Given the description of an element on the screen output the (x, y) to click on. 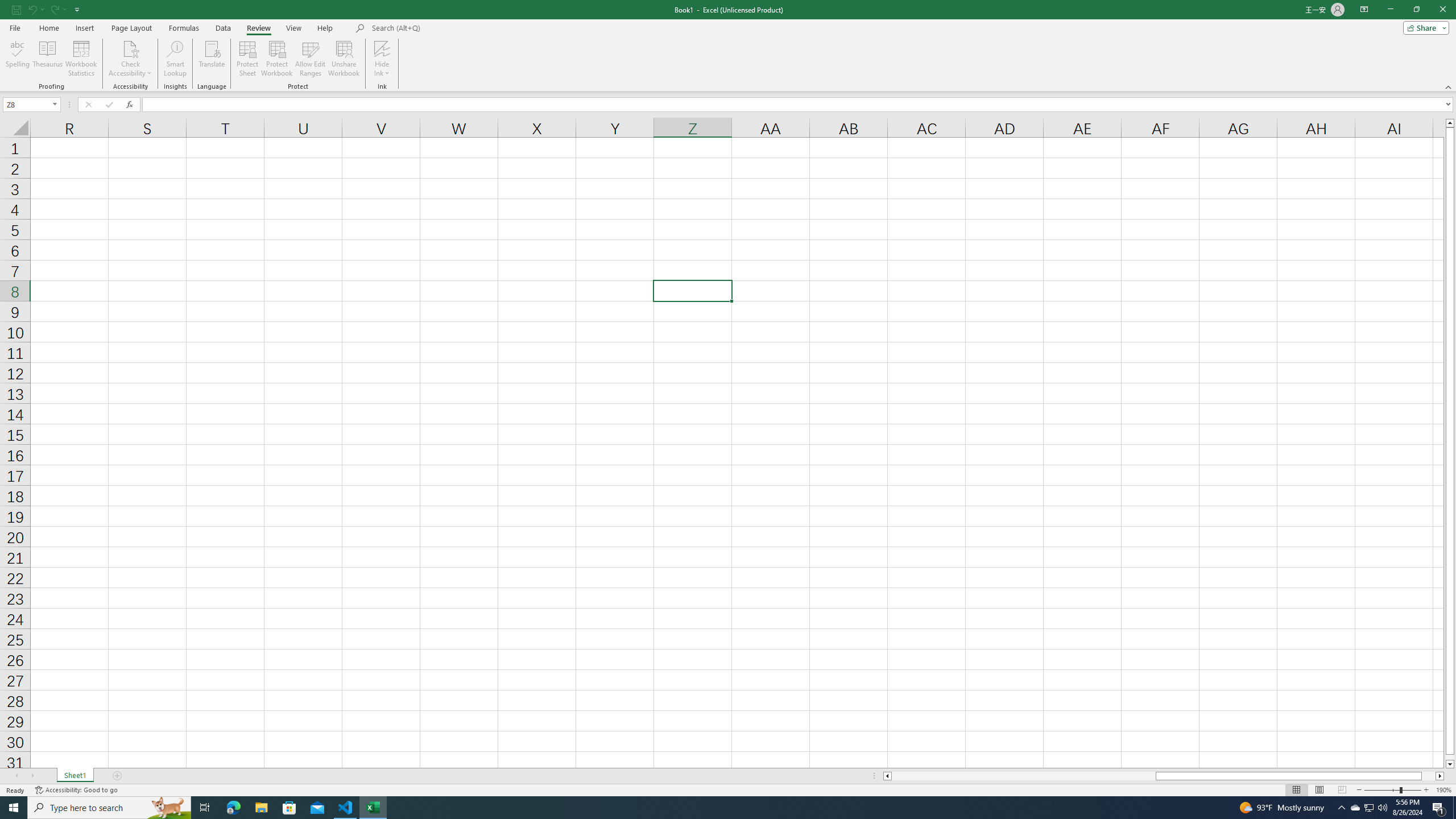
Microsoft search (450, 28)
Quick Access Toolbar (46, 9)
Page left (1023, 775)
